Given the description of an element on the screen output the (x, y) to click on. 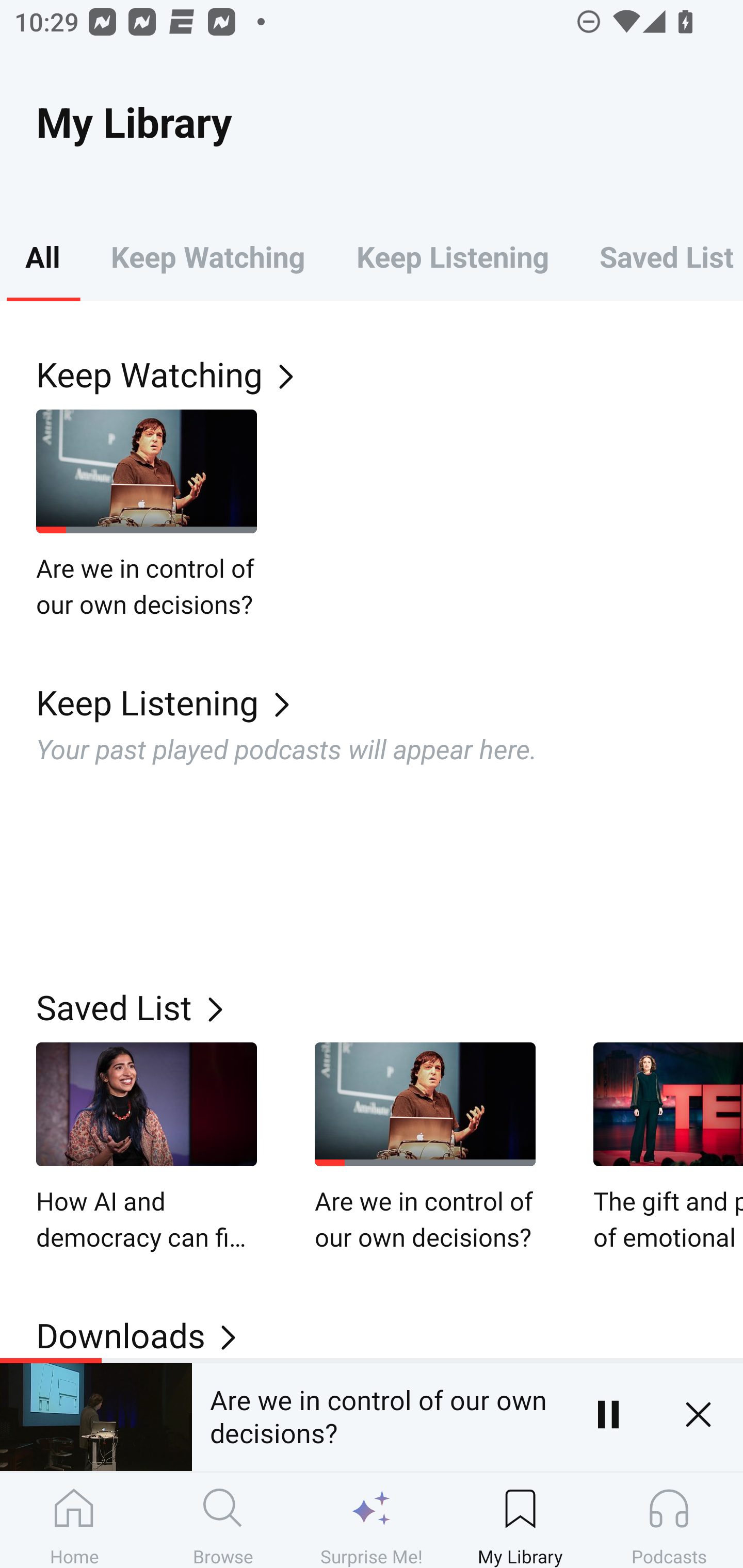
All (42, 256)
Keep Watching (207, 256)
Keep Listening (452, 256)
Saved List (658, 256)
Keep Watching (389, 373)
Are we in control of our own decisions? (146, 514)
Keep Listening (389, 702)
Saved List (389, 1007)
How AI and democracy can fix each other (146, 1148)
Are we in control of our own decisions? (425, 1148)
The gift and power of emotional courage (668, 1148)
Downloads (389, 1334)
Are we in control of our own decisions? (377, 1413)
Home (74, 1520)
Browse (222, 1520)
Surprise Me! (371, 1520)
My Library (519, 1520)
Podcasts (668, 1520)
